Given the description of an element on the screen output the (x, y) to click on. 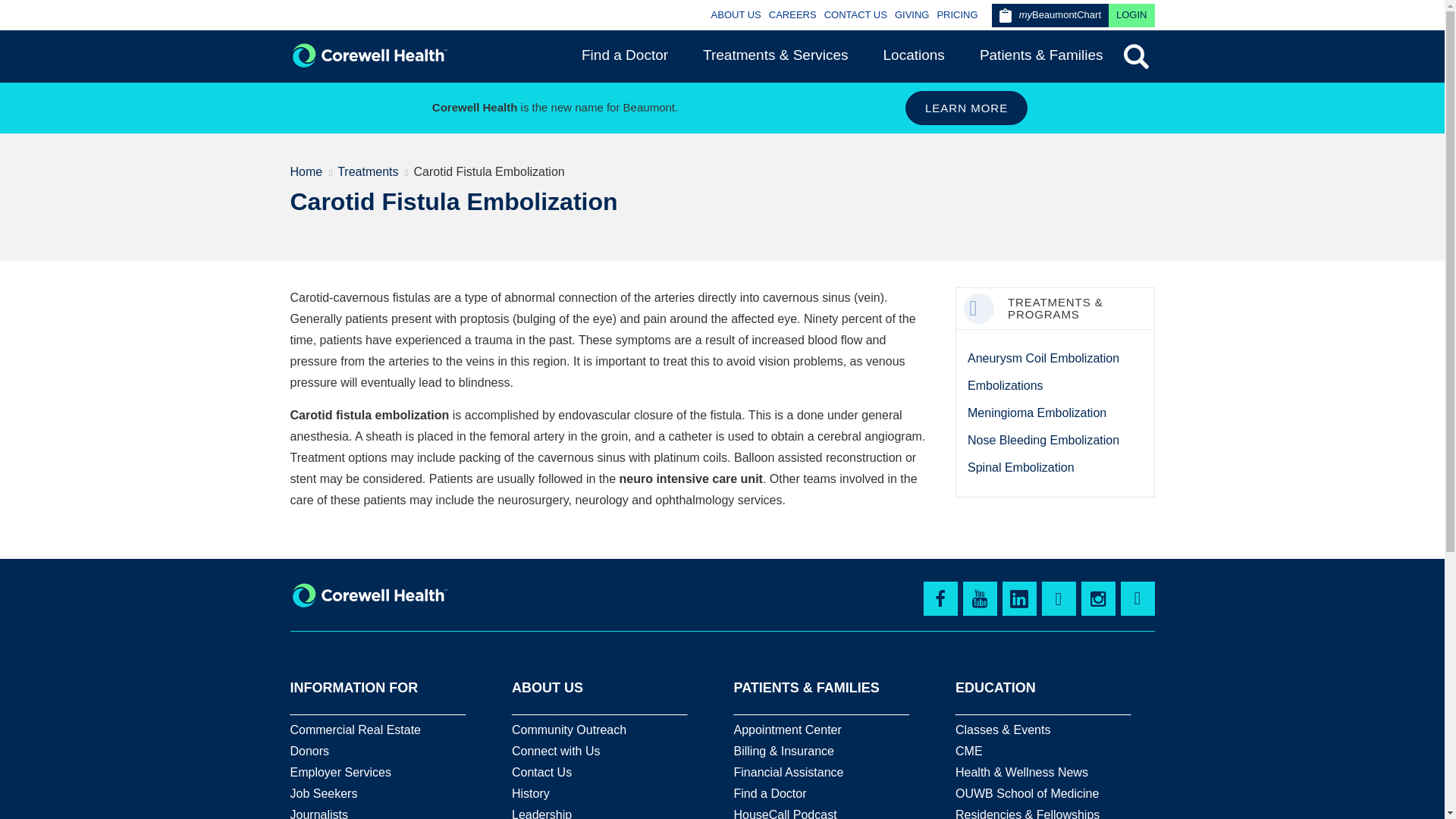
Treatments (367, 171)
Home (305, 171)
Meningioma Embolization (1037, 412)
Nose Bleeding Embolization (1043, 440)
Back to home page (368, 55)
ABOUT US (736, 14)
Aneurysm Coil Embolization (1043, 358)
LEARN MORE (966, 107)
CAREERS (792, 14)
CONTACT US (855, 14)
PRICING (956, 14)
GIVING (912, 14)
Back to home page (368, 595)
Locations (913, 54)
Embolizations (1005, 385)
